Given the description of an element on the screen output the (x, y) to click on. 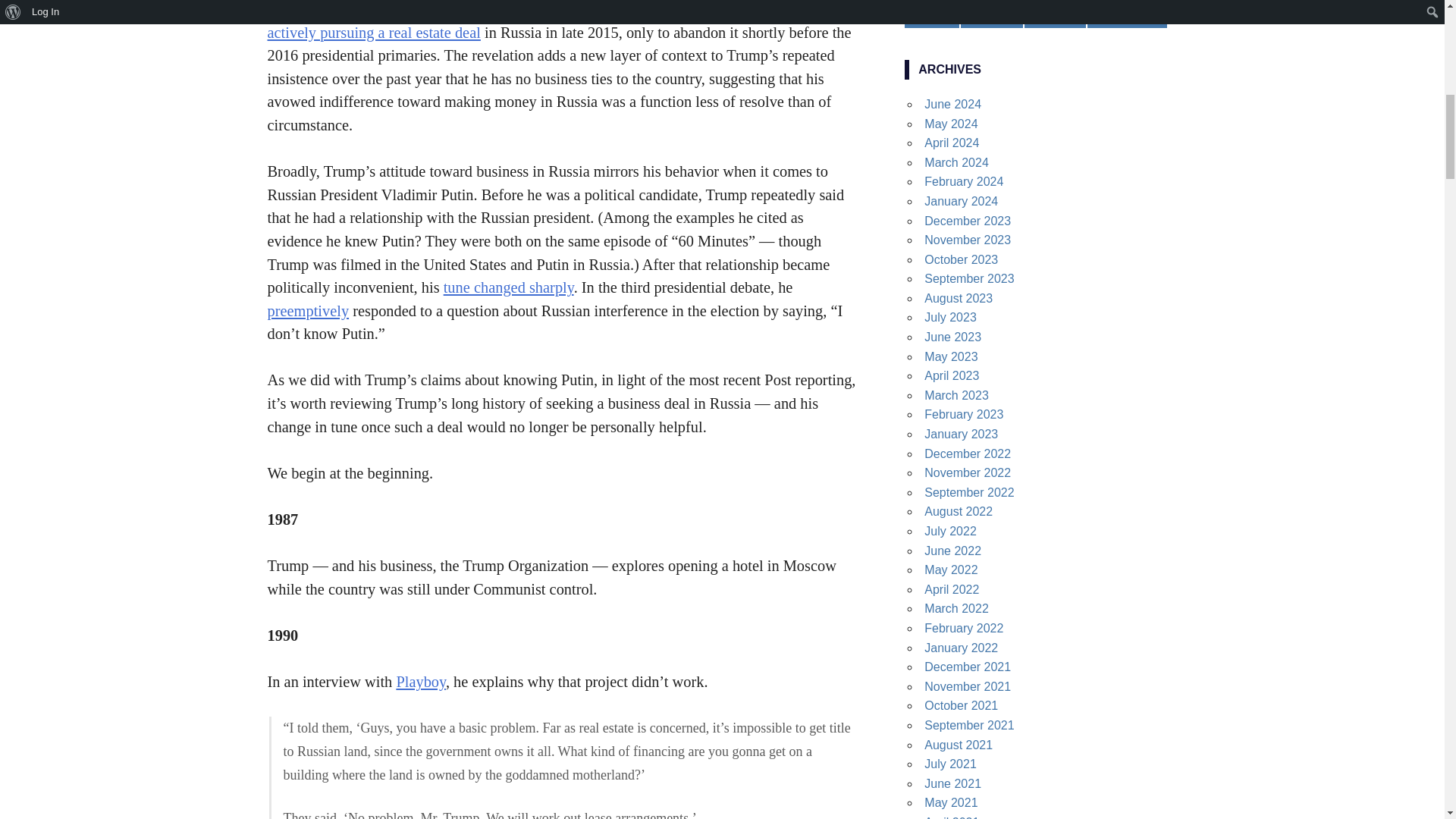
tune changed sharply (508, 287)
actively pursuing a real estate deal (373, 32)
preemptively (307, 310)
Playboy (420, 681)
